Given the description of an element on the screen output the (x, y) to click on. 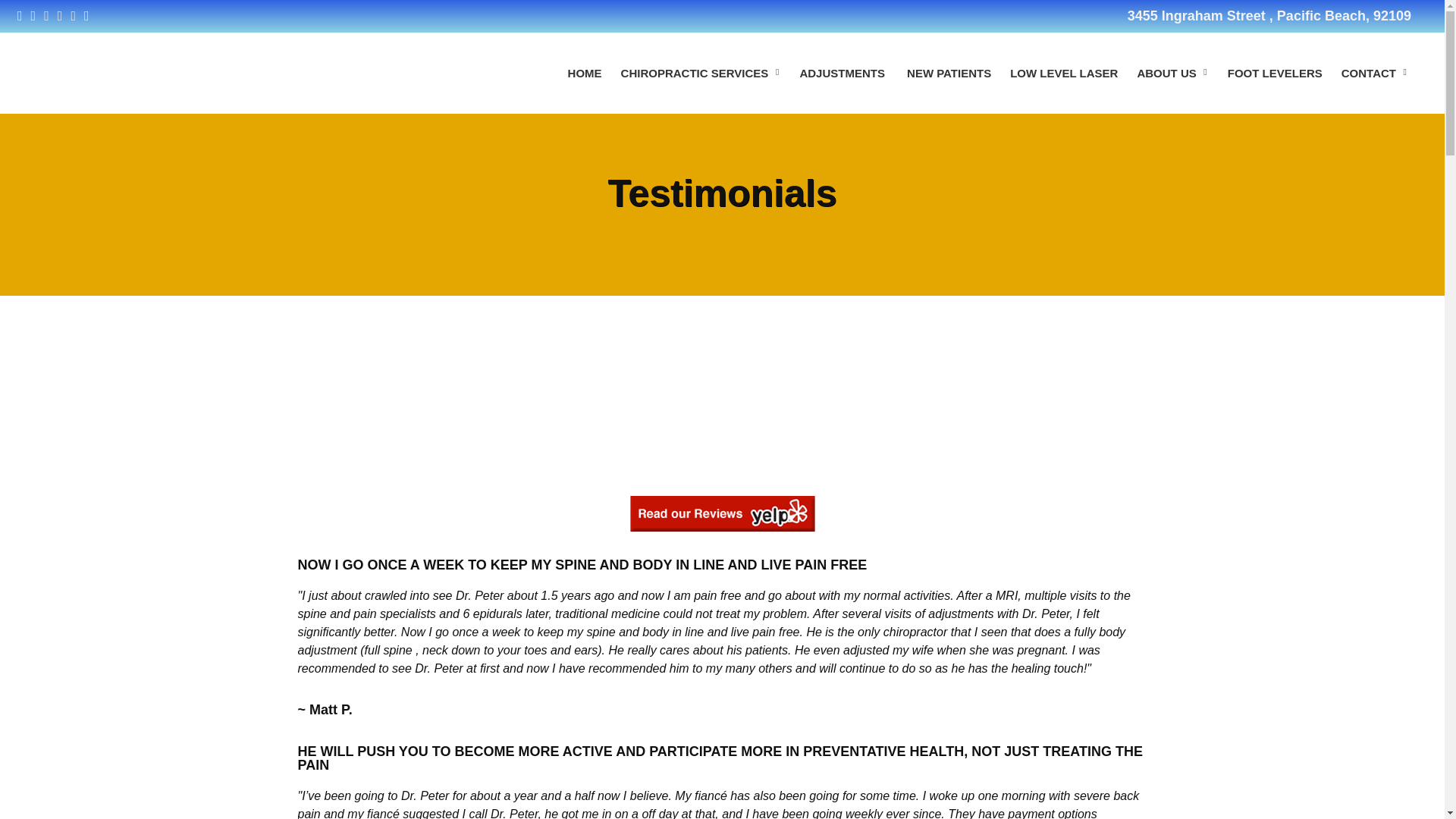
FOOT LEVELERS (1274, 72)
CHIROPRACTIC SERVICES (700, 72)
LOW LEVEL LASER (1064, 72)
HOME (584, 72)
ADJUSTMENTS  (843, 72)
NEW PATIENTS (949, 72)
CONTACT (1373, 72)
ABOUT US (1172, 72)
3455 Ingraham Street , Pacific Beach, 92109 (1268, 15)
